Given the description of an element on the screen output the (x, y) to click on. 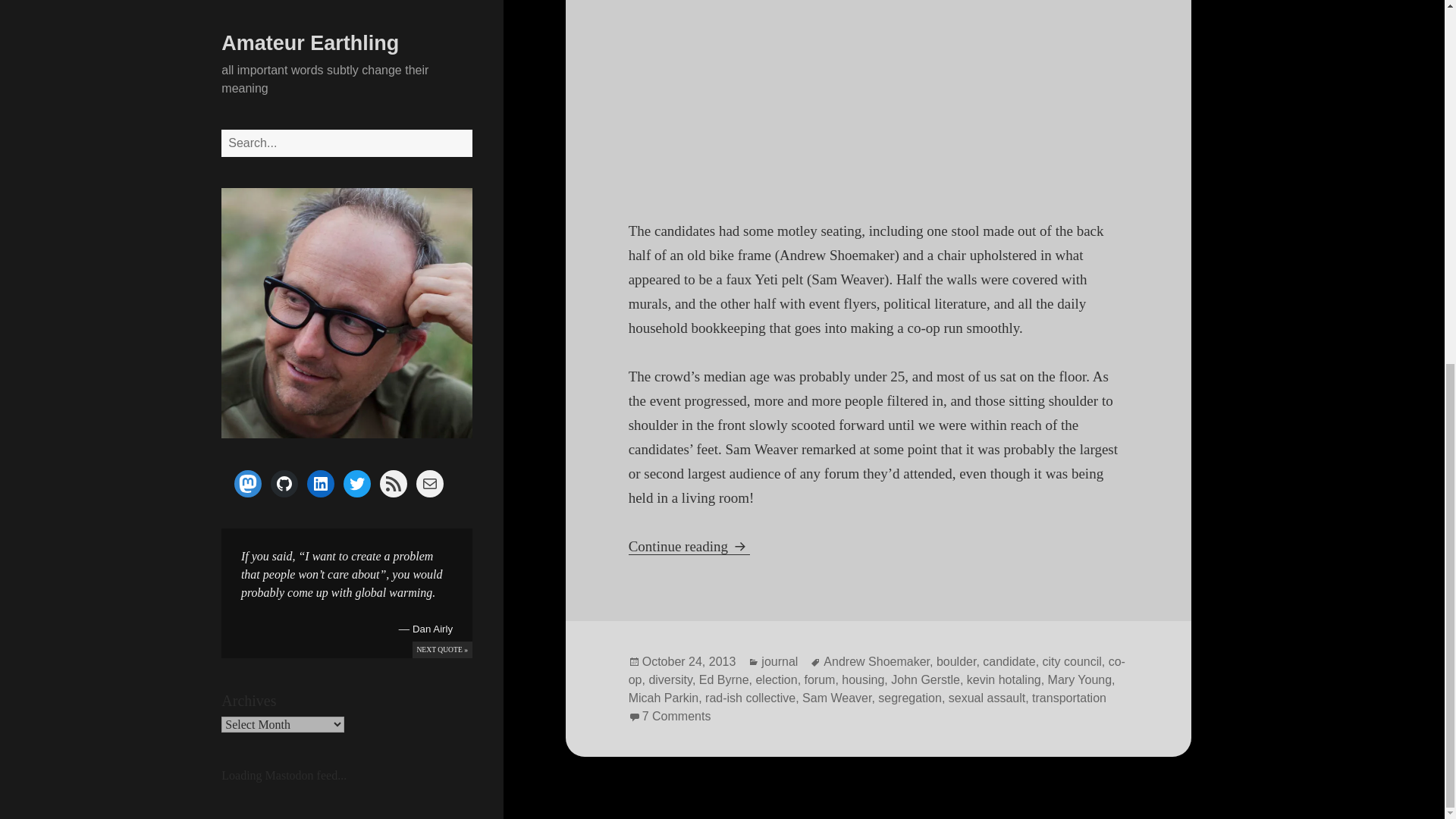
sexual assault (987, 698)
rad-ish collective (749, 698)
city council (1072, 662)
Sam Weaver (836, 698)
candidate (1008, 662)
boulder (956, 662)
transportation (1069, 698)
October 24, 2013 (689, 662)
Mary Young (1080, 680)
diversity (670, 680)
John Gerstle (688, 546)
Ed Byrne (925, 680)
Micah Parkin (723, 680)
journal (663, 698)
